Given the description of an element on the screen output the (x, y) to click on. 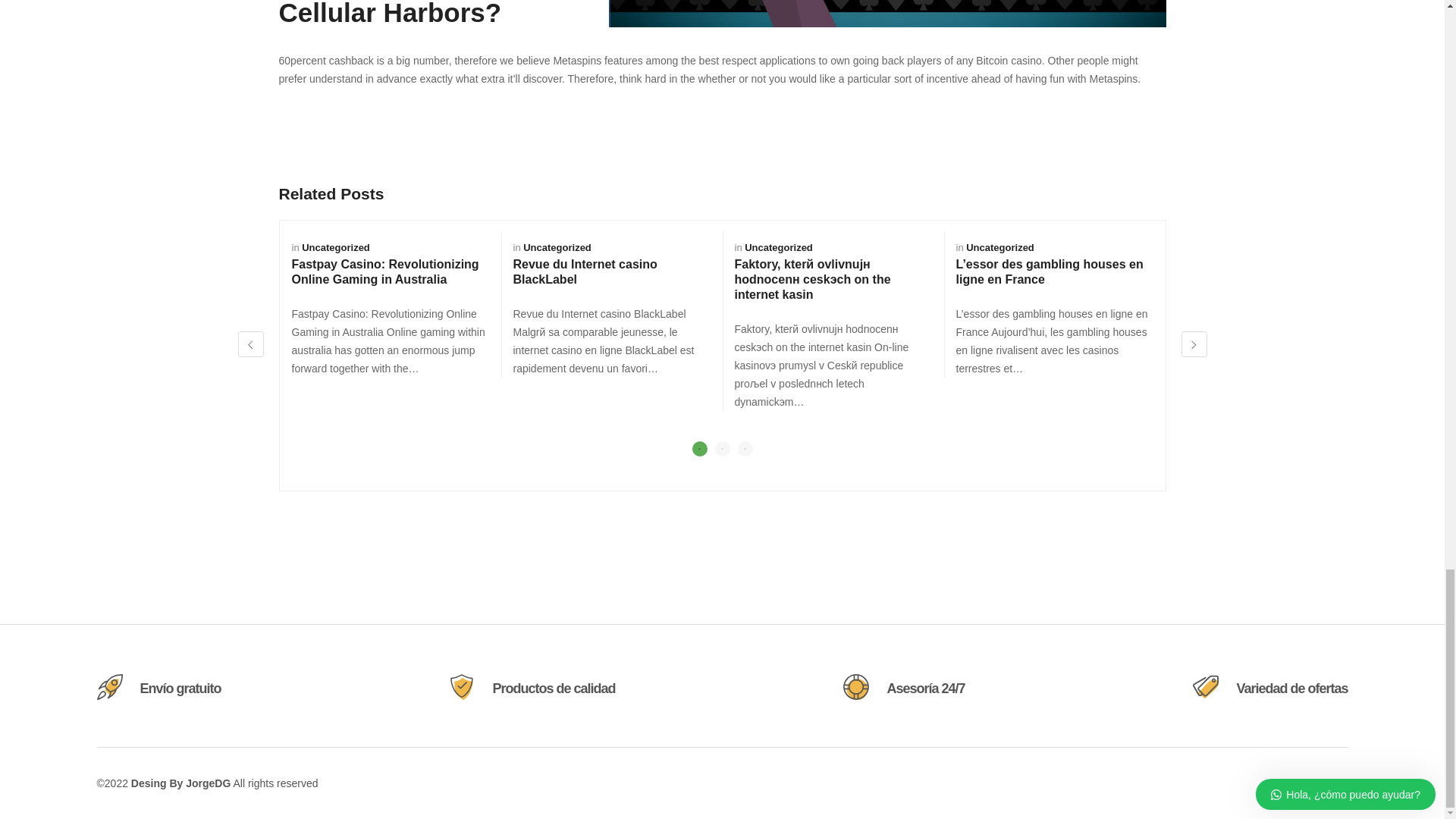
Uncategorized (556, 247)
Revue du Internet casino BlackLabel (584, 271)
Uncategorized (778, 247)
Uncategorized (335, 247)
Fastpay Casino: Revolutionizing Online Gaming in Australia (385, 271)
Uncategorized (999, 247)
